Given the description of an element on the screen output the (x, y) to click on. 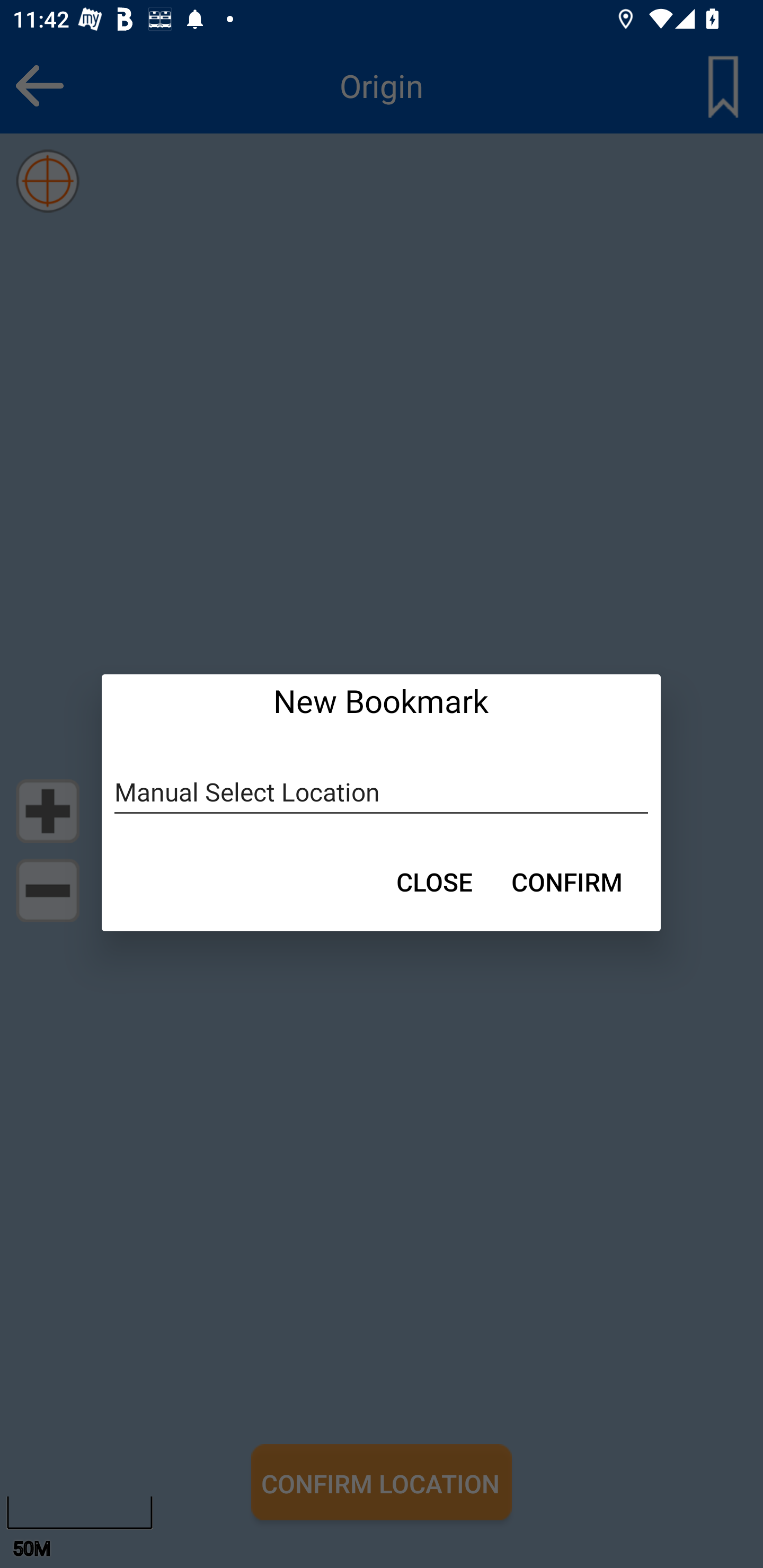
Manual Select Location (381, 792)
CLOSE (434, 881)
CONFIRM (566, 881)
